Given the description of an element on the screen output the (x, y) to click on. 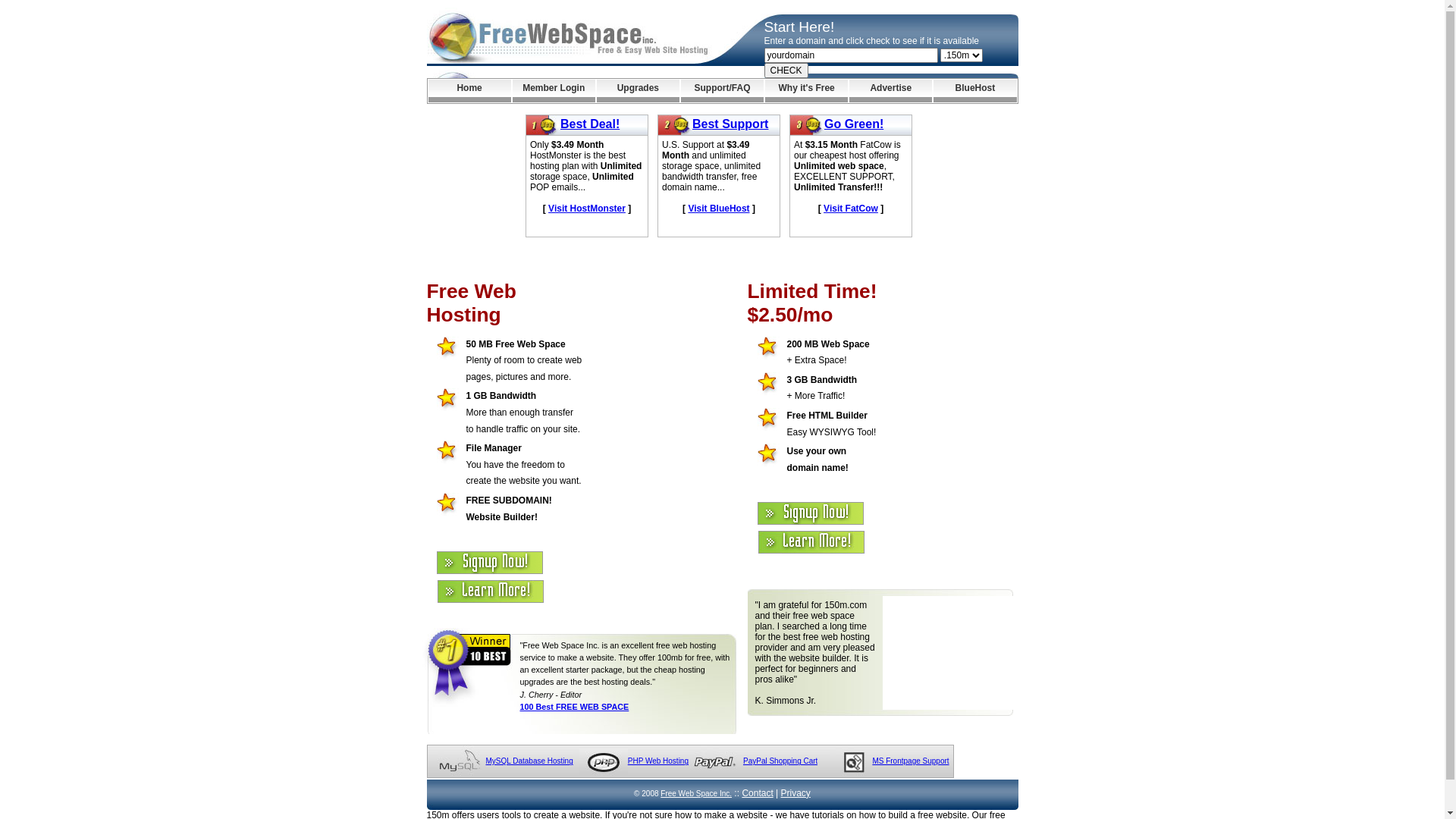
PHP Web Hosting Element type: text (657, 760)
Member Login Element type: text (553, 90)
100 Best FREE WEB SPACE Element type: text (574, 706)
Upgrades Element type: text (637, 90)
CHECK Element type: text (786, 70)
Advertise Element type: text (890, 90)
MySQL Database Hosting Element type: text (528, 760)
PayPal Shopping Cart Element type: text (780, 760)
Home Element type: text (468, 90)
Free Web Space Inc. Element type: text (695, 793)
Support/FAQ Element type: text (721, 90)
MS Frontpage Support Element type: text (910, 760)
Why it's Free Element type: text (806, 90)
Contact Element type: text (756, 792)
Privacy Element type: text (795, 792)
BlueHost Element type: text (974, 90)
